Given the description of an element on the screen output the (x, y) to click on. 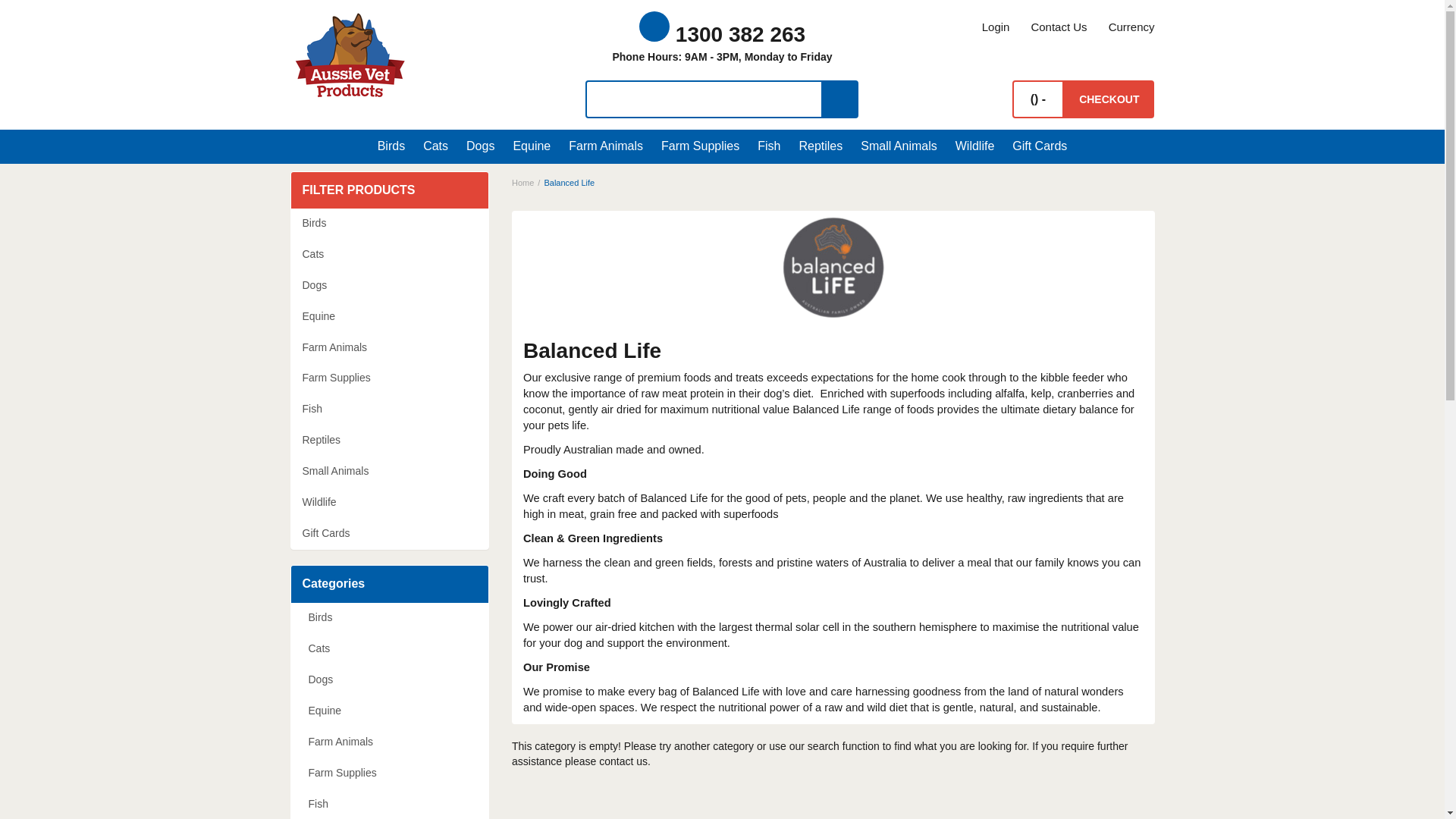
Cats (435, 146)
CHECKOUT (1109, 98)
1300 382 263 (722, 33)
Currency (1125, 26)
Birds (395, 146)
Aussie Vet Products (349, 55)
Contact Us (1058, 26)
Search (840, 98)
